Given the description of an element on the screen output the (x, y) to click on. 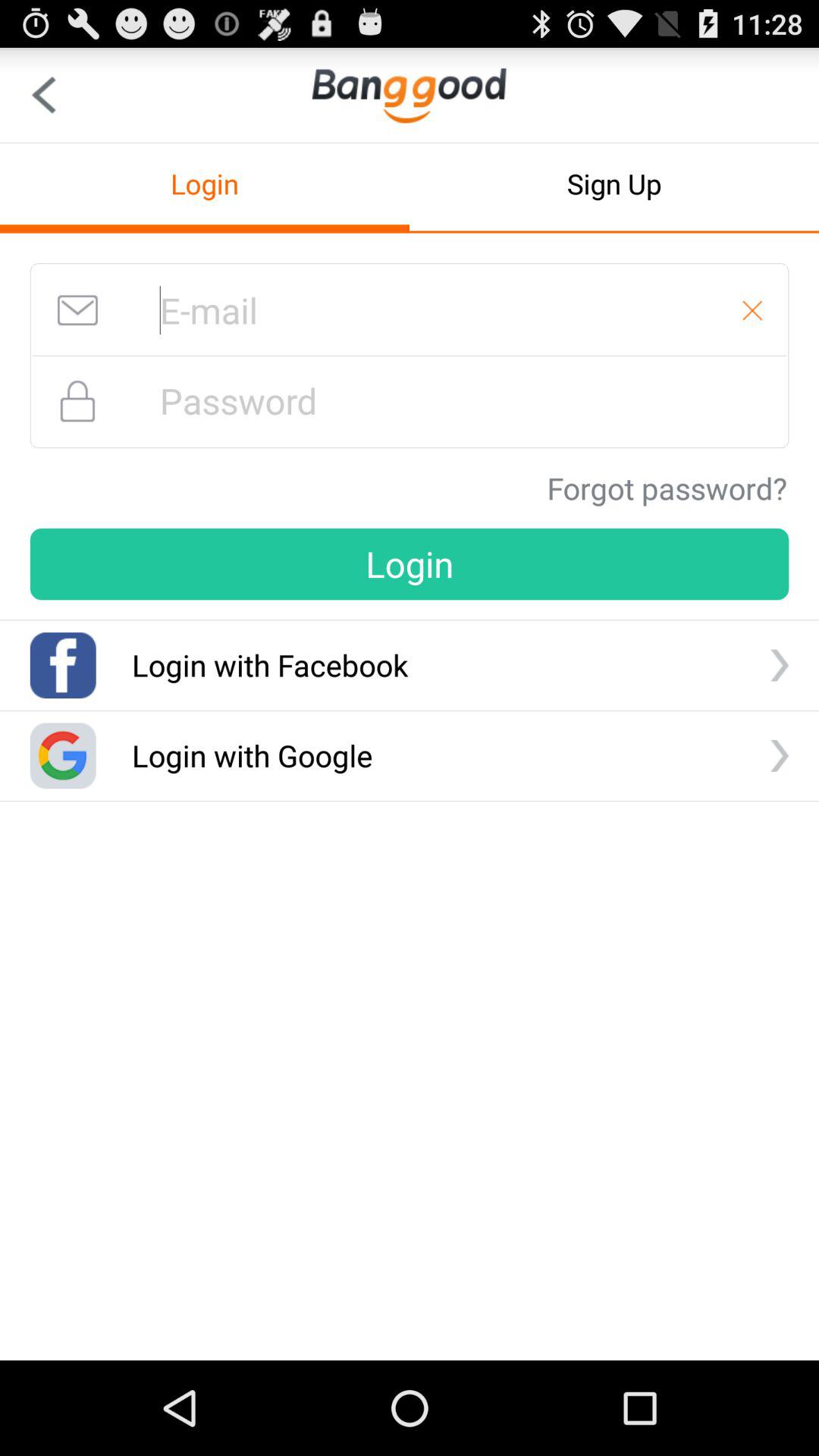
swipe to sign up button (614, 183)
